Given the description of an element on the screen output the (x, y) to click on. 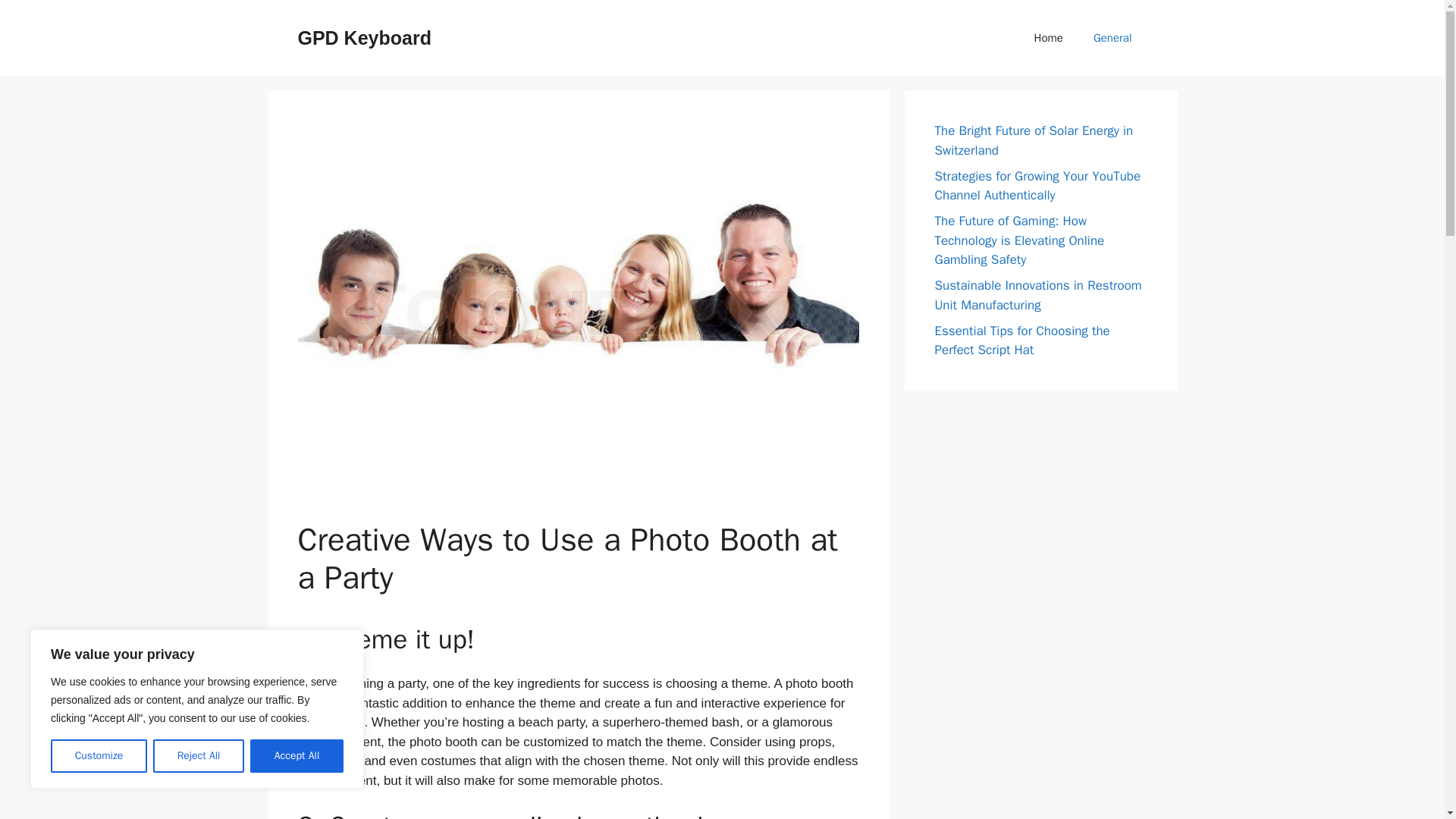
Strategies for Growing Your YouTube Channel Authentically (1037, 185)
Reject All (198, 756)
General (1112, 37)
Customize (98, 756)
Accept All (296, 756)
The Bright Future of Solar Energy in Switzerland (1033, 140)
Home (1048, 37)
GPD Keyboard (363, 37)
Essential Tips for Choosing the Perfect Script Hat (1021, 340)
